Given the description of an element on the screen output the (x, y) to click on. 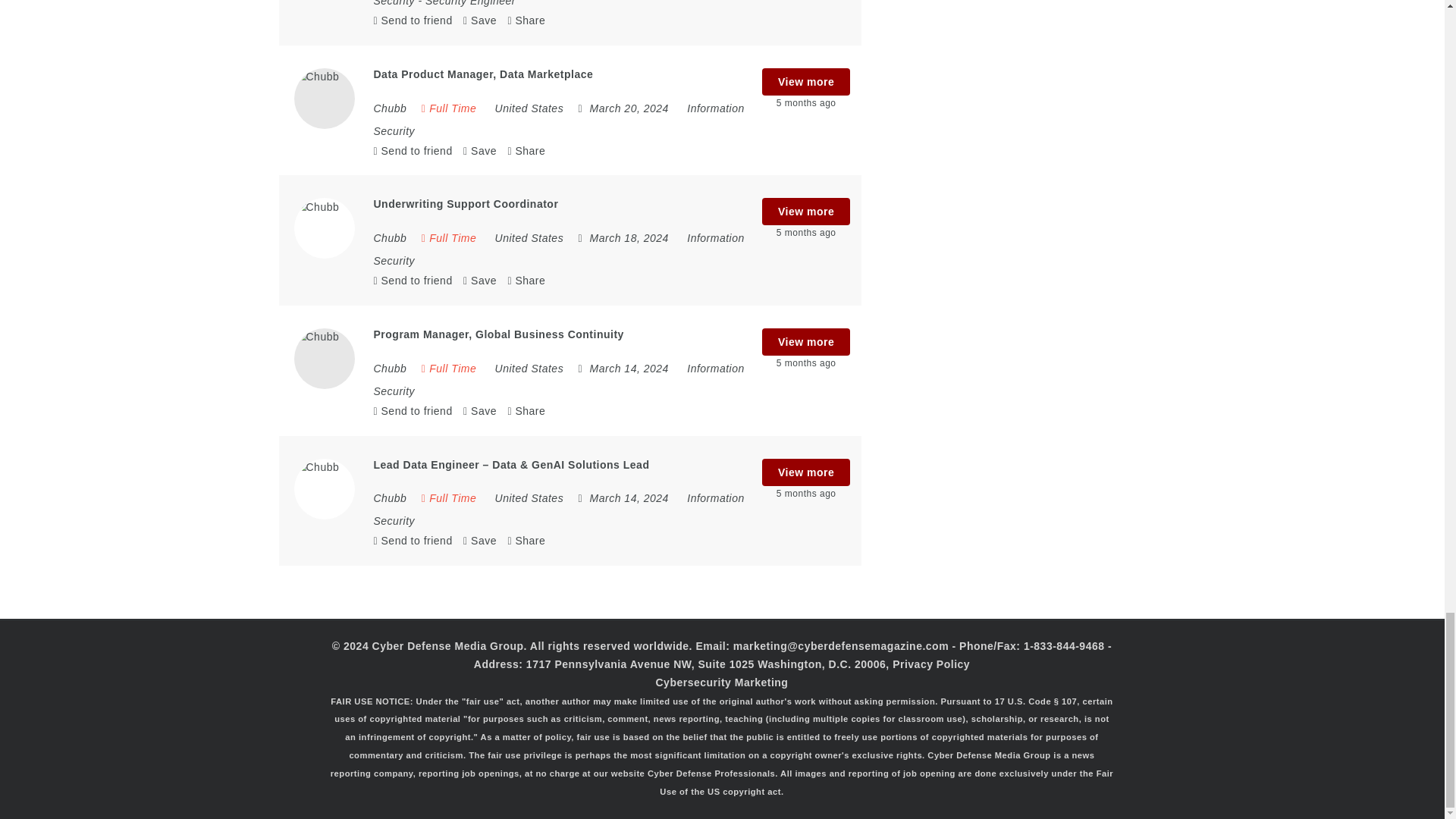
Permanent link to: "Data Product Manager, Data Marketplace" (482, 73)
Security Engineer (470, 3)
Information Security (564, 3)
